Given the description of an element on the screen output the (x, y) to click on. 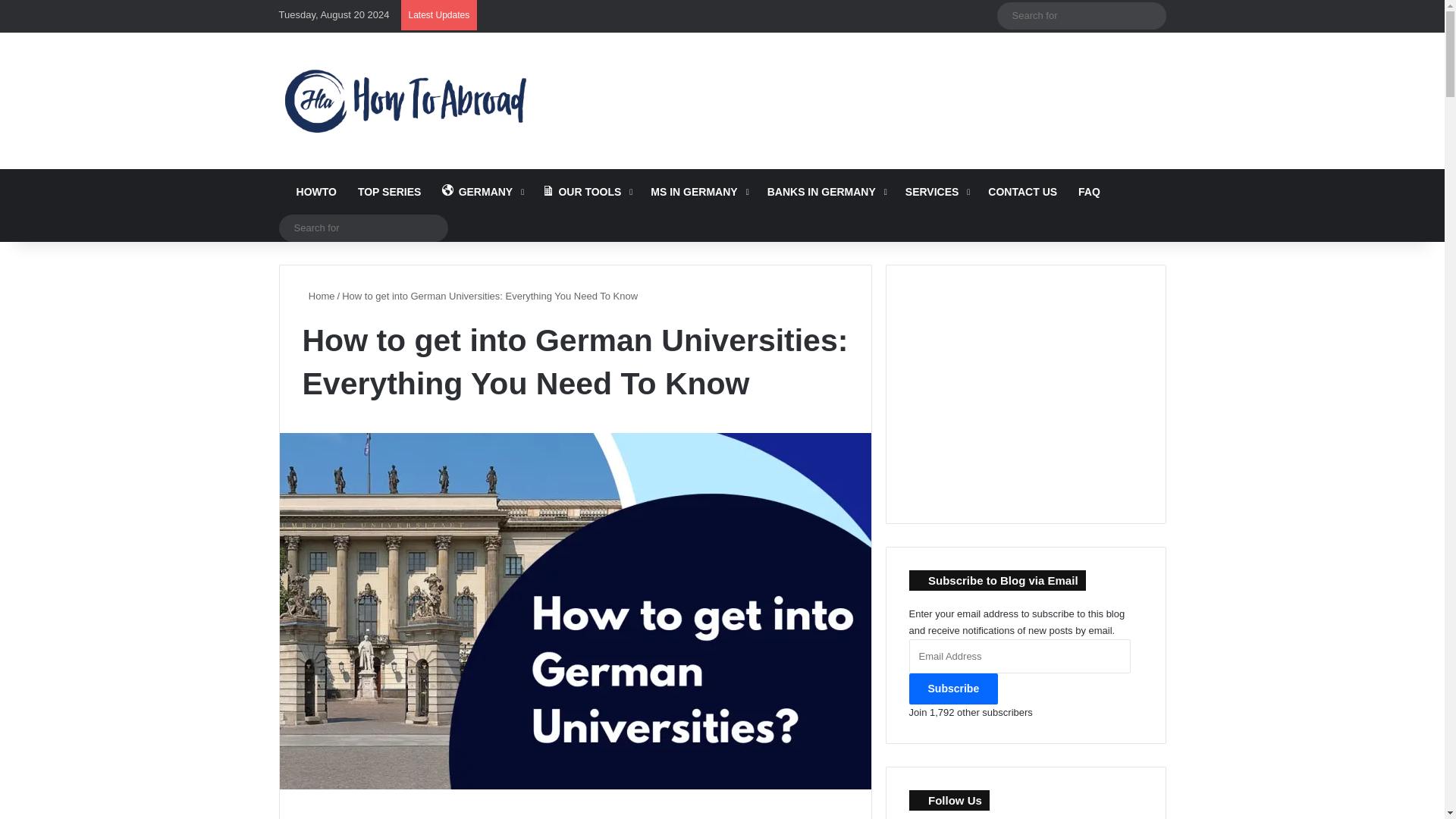
How to Abroad (405, 100)
OUR TOOLS (585, 191)
MS IN GERMANY (697, 191)
Search for (363, 227)
Search for (1080, 15)
HOWTO (313, 191)
GERMANY (480, 191)
TOP SERIES (389, 191)
